Given the description of an element on the screen output the (x, y) to click on. 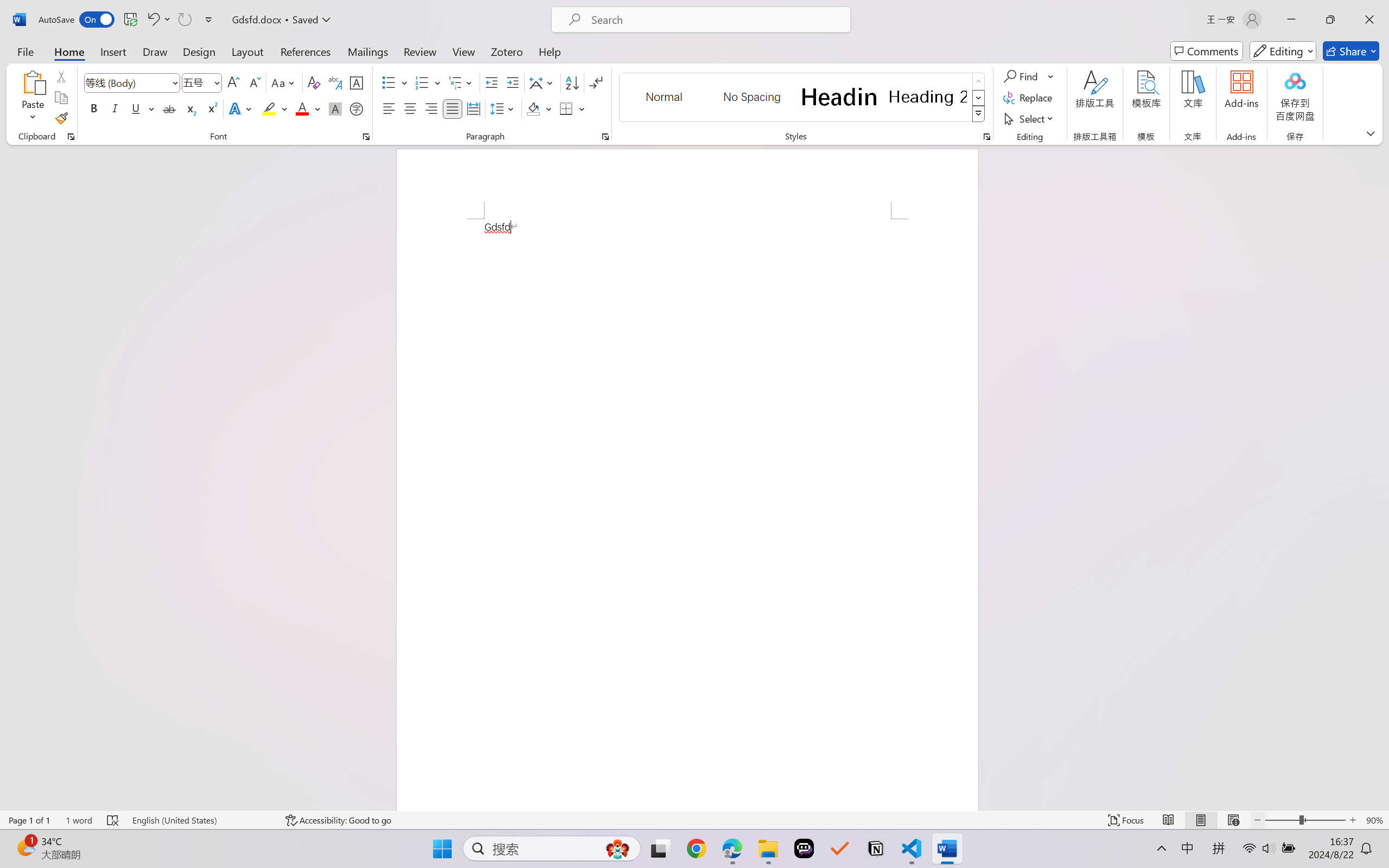
Select (1030, 118)
Cut (60, 75)
Text Highlight Color (274, 108)
Align Right (431, 108)
Enclose Characters... (356, 108)
Styles... (986, 136)
Font Color Red (302, 108)
